Given the description of an element on the screen output the (x, y) to click on. 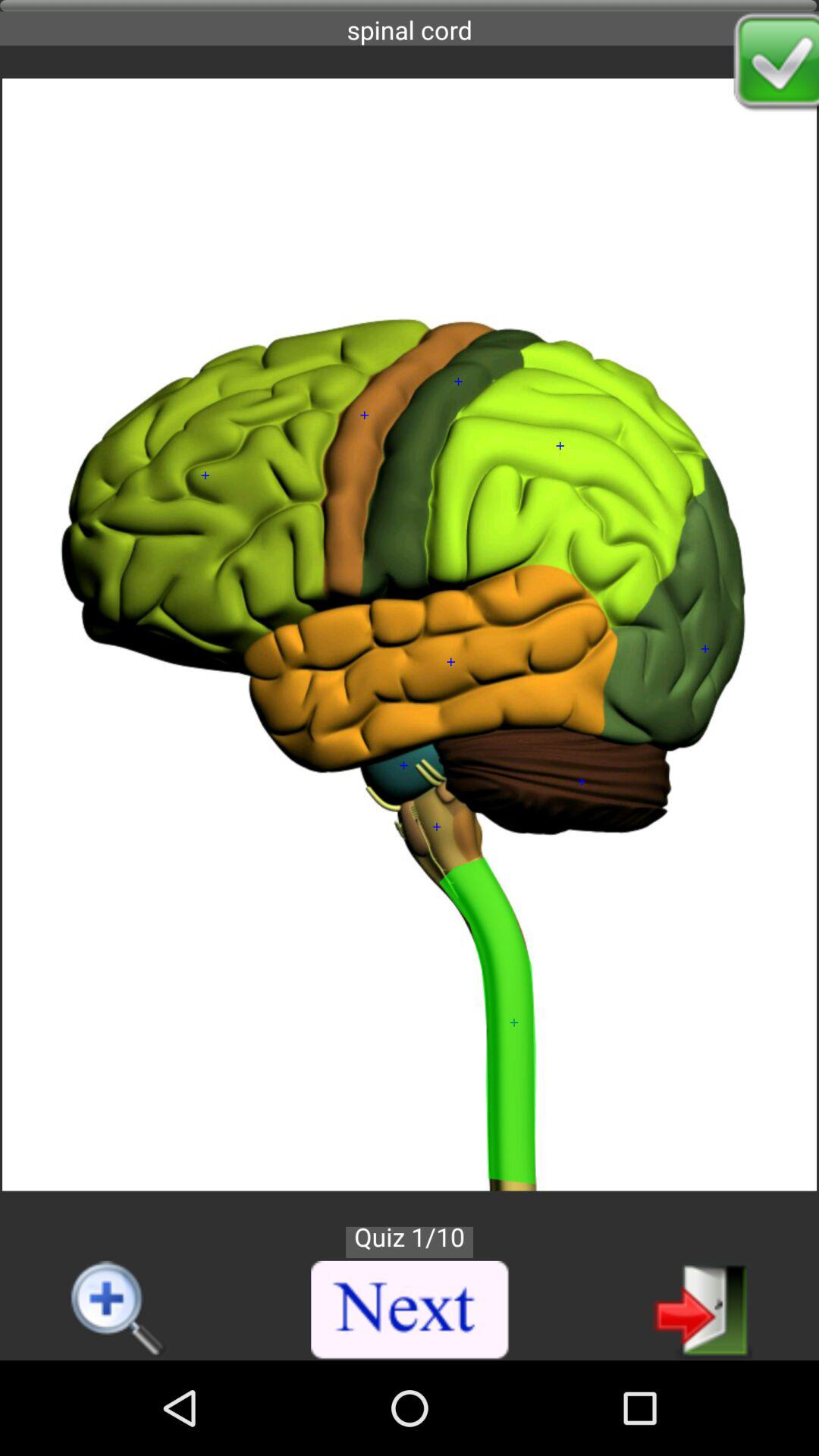
launch the item at the bottom left corner (118, 1310)
